Given the description of an element on the screen output the (x, y) to click on. 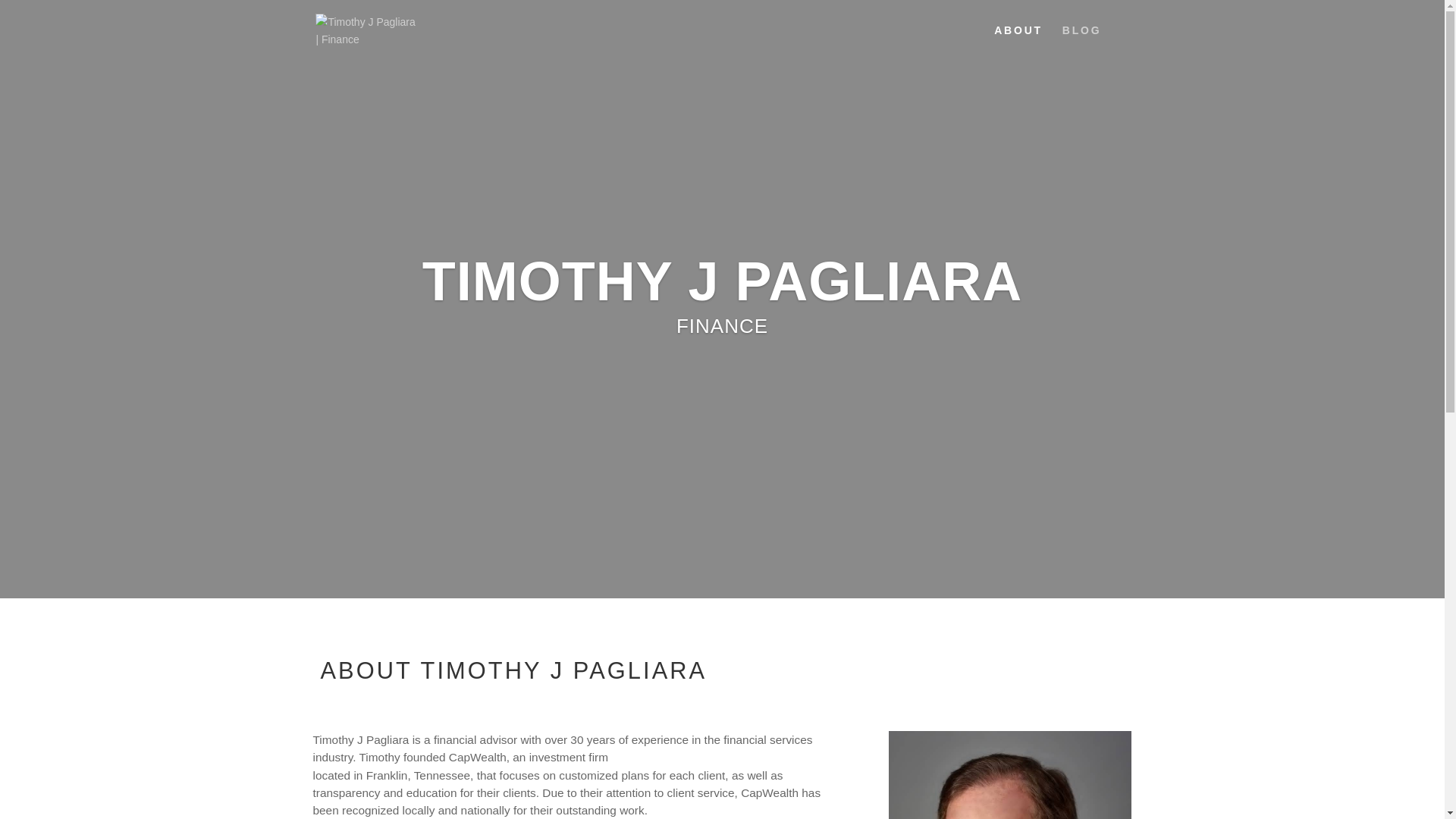
BLOG (1082, 42)
ABOUT (1018, 42)
Timothy J Pagliara Headshot (1009, 775)
